Given the description of an element on the screen output the (x, y) to click on. 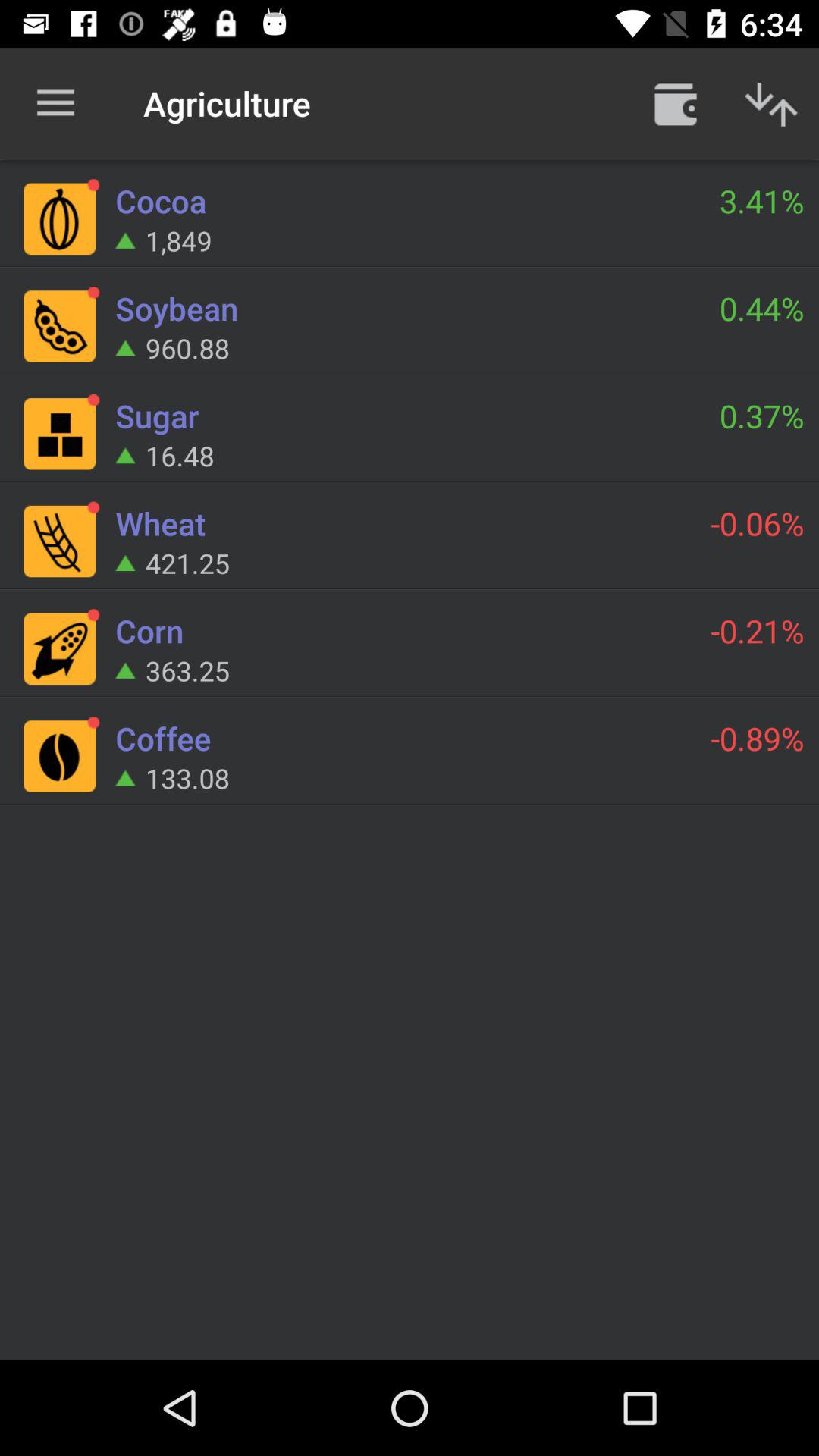
choose item above 3.41% item (675, 103)
